Given the description of an element on the screen output the (x, y) to click on. 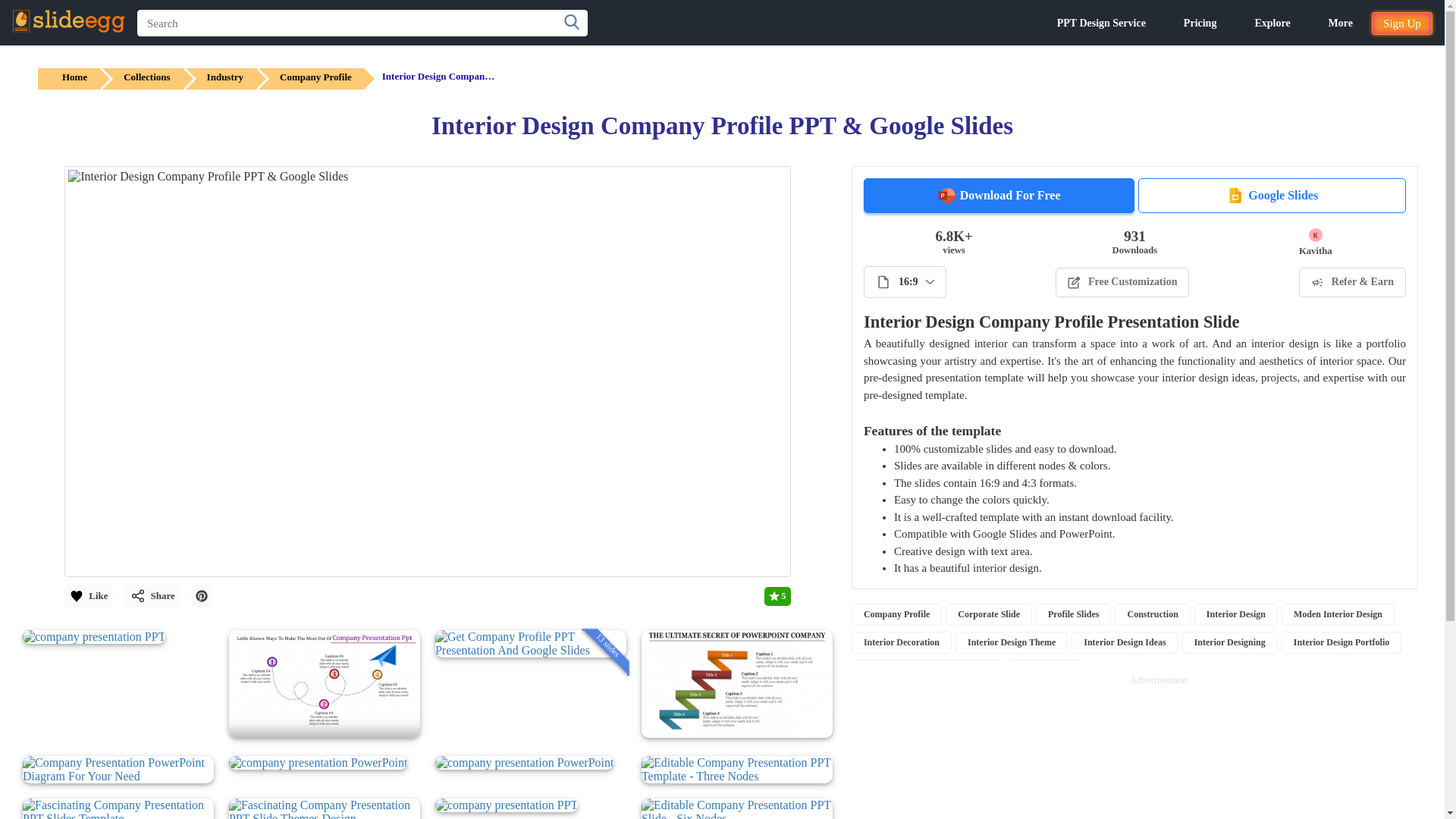
SlideEgg (68, 21)
Pricing (1200, 22)
Explore (1271, 22)
PPT Design Service (1101, 22)
